Given the description of an element on the screen output the (x, y) to click on. 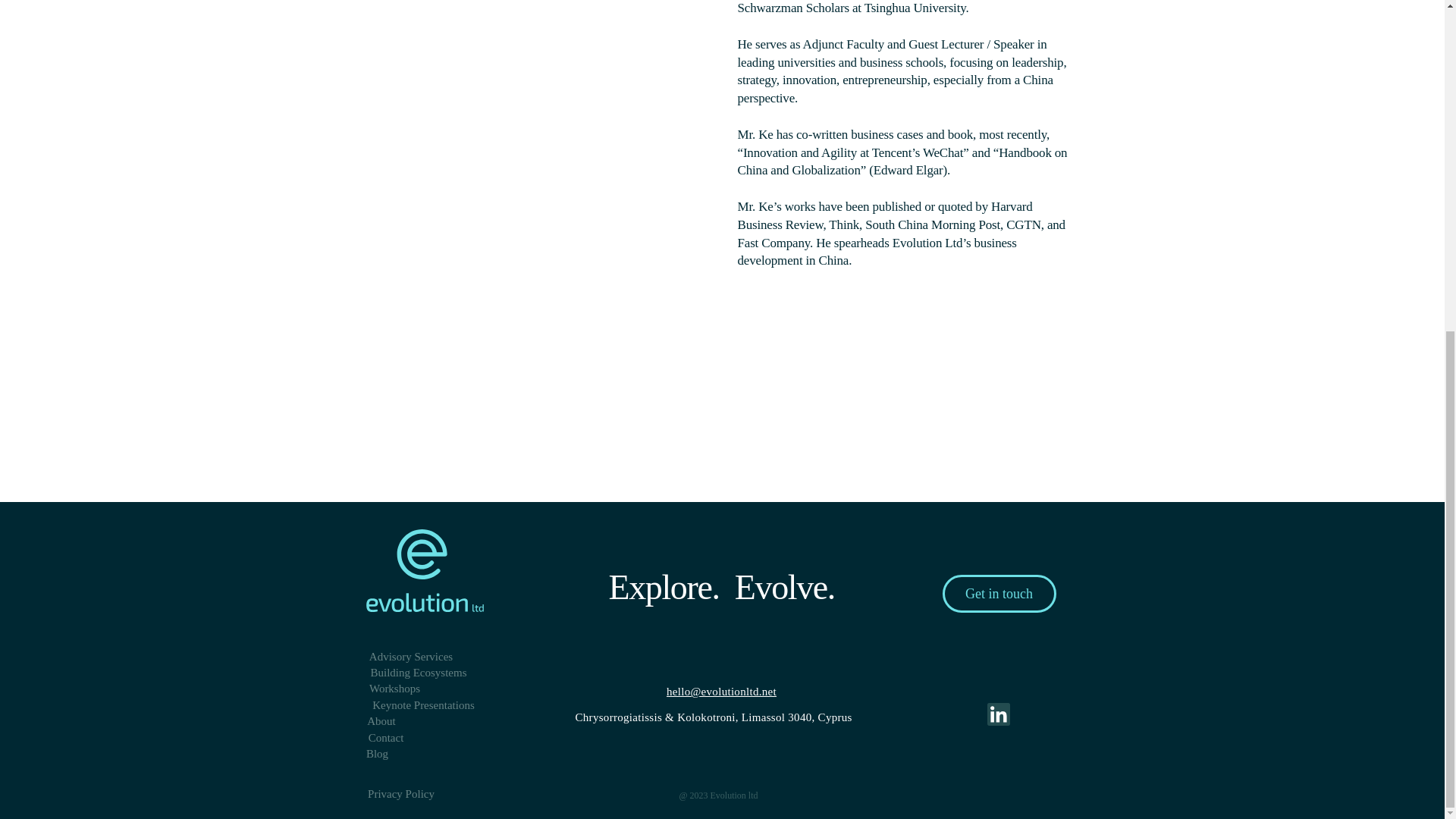
Privacy Policy (400, 794)
Workshops (394, 688)
Advisory Services (410, 657)
Building Ecosystems (417, 672)
Get in touch (998, 593)
Blog (376, 754)
Keynote Presentations (422, 705)
About (380, 721)
Contact (385, 738)
